Given the description of an element on the screen output the (x, y) to click on. 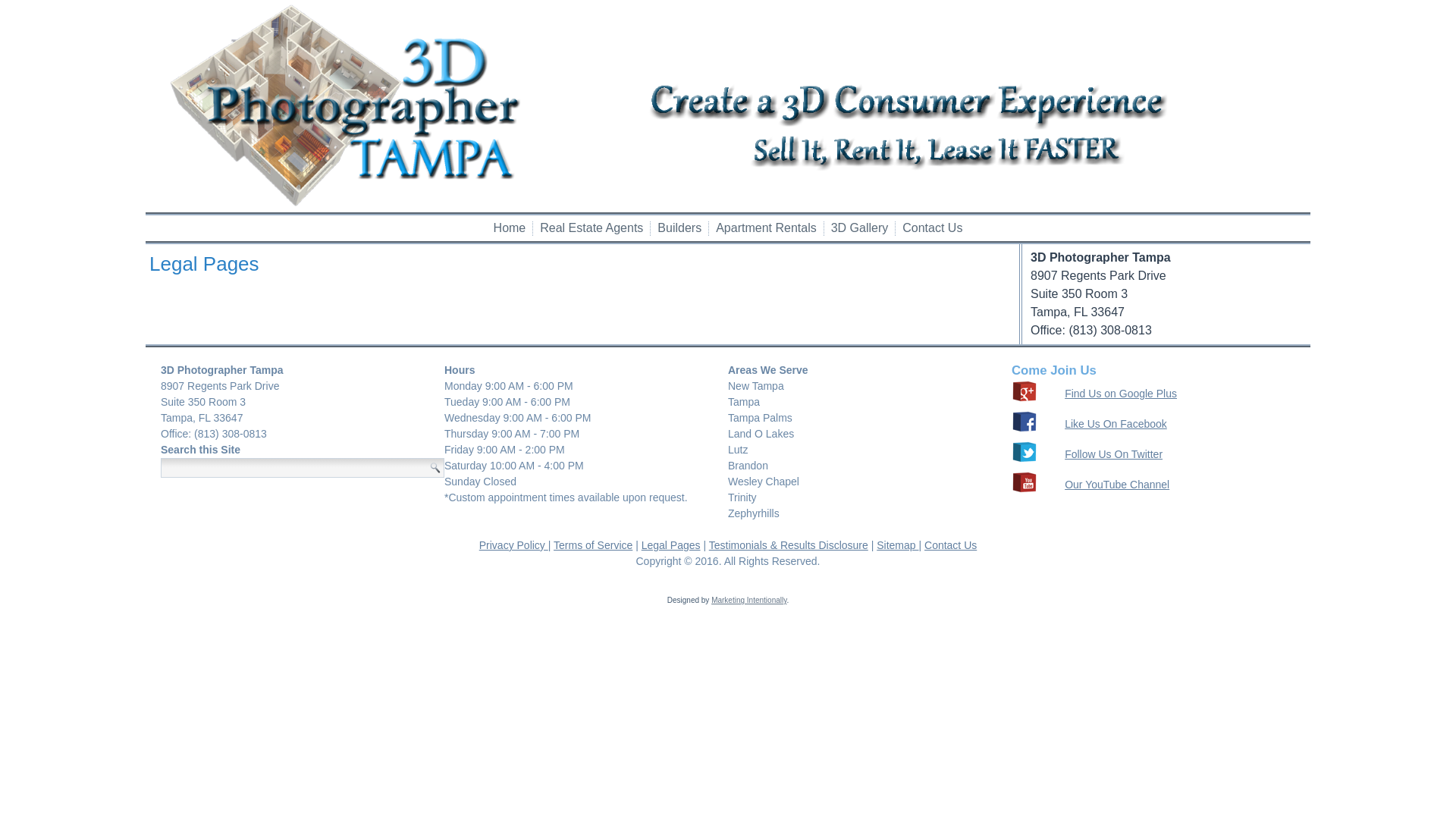
Marketing Intentionally Element type: text (748, 600)
3D Gallery Element type: text (859, 228)
Find Us on Google Plus Element type: text (1120, 392)
Contact Us Element type: text (950, 545)
YouTube Element type: hover (1024, 482)
Join Us on Google Plus Element type: hover (1024, 391)
Our YouTube Channel Element type: text (1116, 483)
Join Us on Facebook Element type: hover (1024, 421)
Real Estate Agents Element type: text (591, 228)
Join us on Twitter Element type: hover (1024, 460)
Terms of Service Element type: text (592, 545)
Apartment Rentals Element type: text (765, 228)
Like Us On Facebook Element type: text (1115, 423)
Testimonials & Results Disclosure Element type: text (788, 545)
Follow Us On Twitter Element type: text (1113, 453)
Follow Us on Twitter Element type: hover (1024, 451)
Privacy Policy Element type: text (513, 545)
Contact Us Element type: text (932, 228)
Home Element type: text (509, 228)
Like Us on Facebook Element type: hover (1024, 429)
Legal Pages Element type: text (670, 545)
Sitemap Element type: text (897, 545)
Our YouTube Channel Element type: hover (1024, 490)
Builders Element type: text (679, 228)
Join Us on Google Plus Element type: hover (1024, 399)
